Given the description of an element on the screen output the (x, y) to click on. 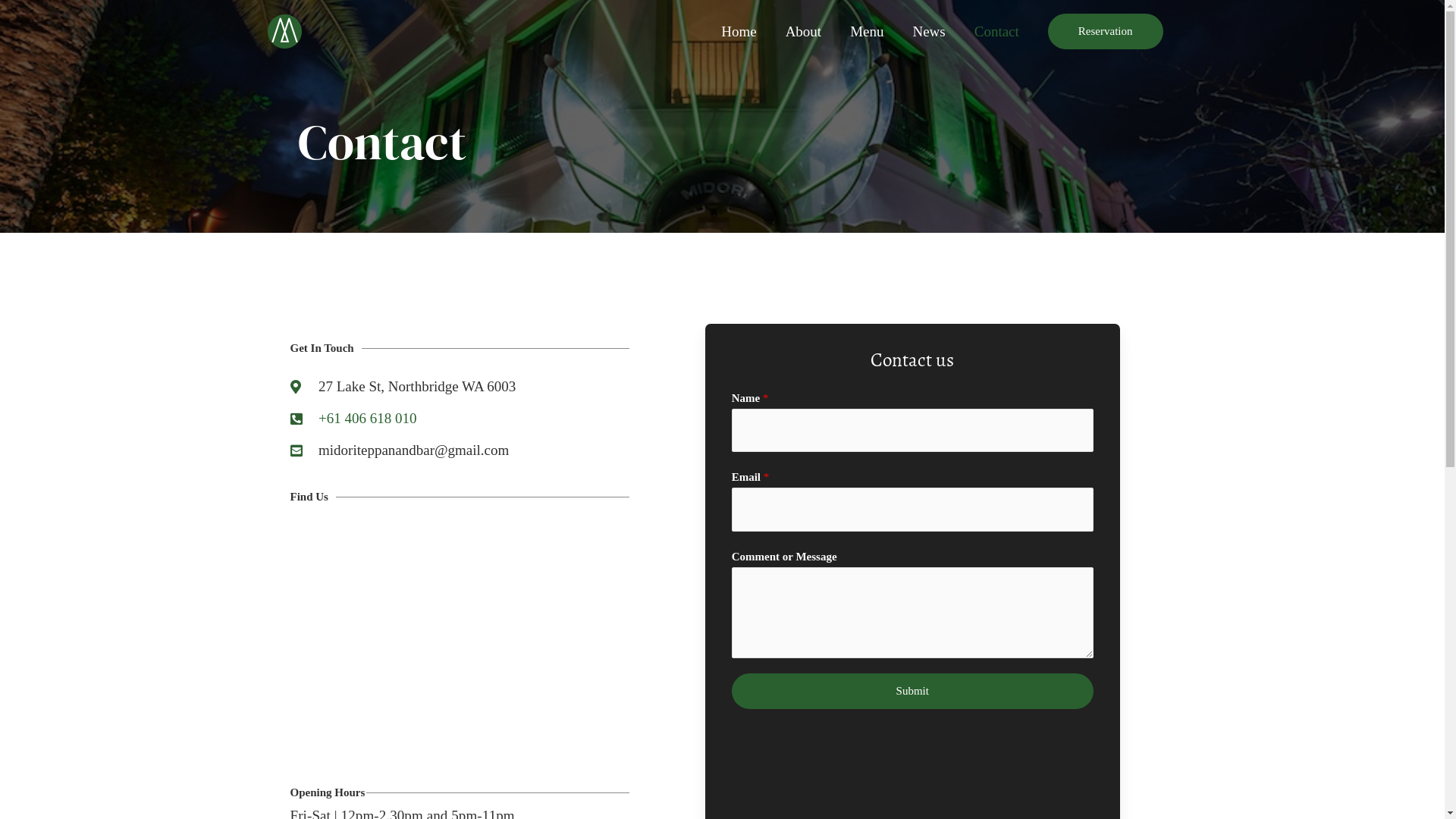
27 Lake St, Northbridge WA 6003 Element type: hover (458, 633)
+61 406 618 010 Element type: text (367, 418)
News Element type: text (928, 31)
Home Element type: text (738, 31)
Reservation Element type: text (1105, 31)
About Element type: text (803, 31)
Contact Element type: text (996, 31)
Submit Element type: text (912, 691)
Menu Element type: text (866, 31)
